Given the description of an element on the screen output the (x, y) to click on. 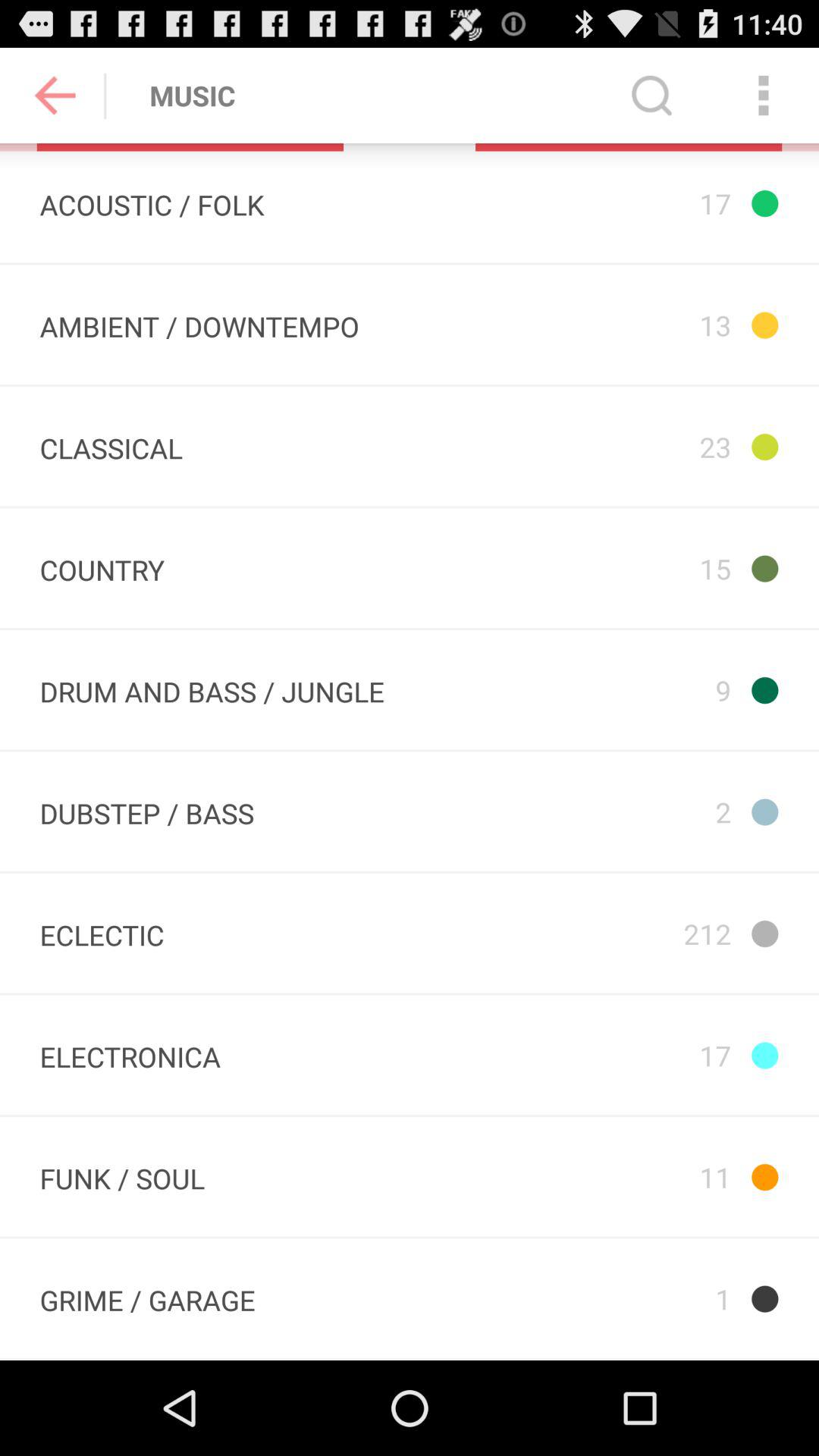
choose the item next to the 212 icon (102, 933)
